Given the description of an element on the screen output the (x, y) to click on. 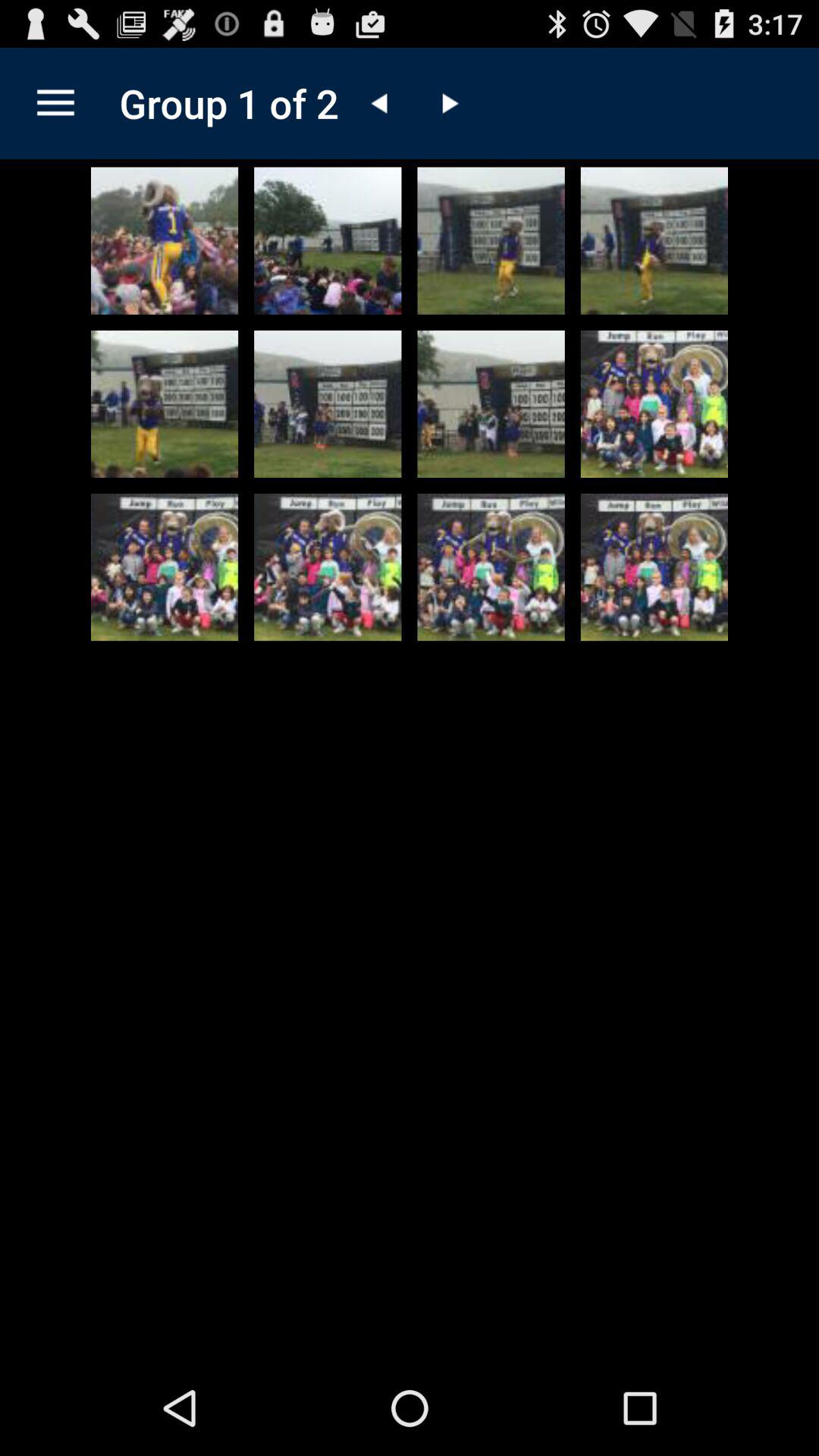
los angeles rams (327, 566)
